Given the description of an element on the screen output the (x, y) to click on. 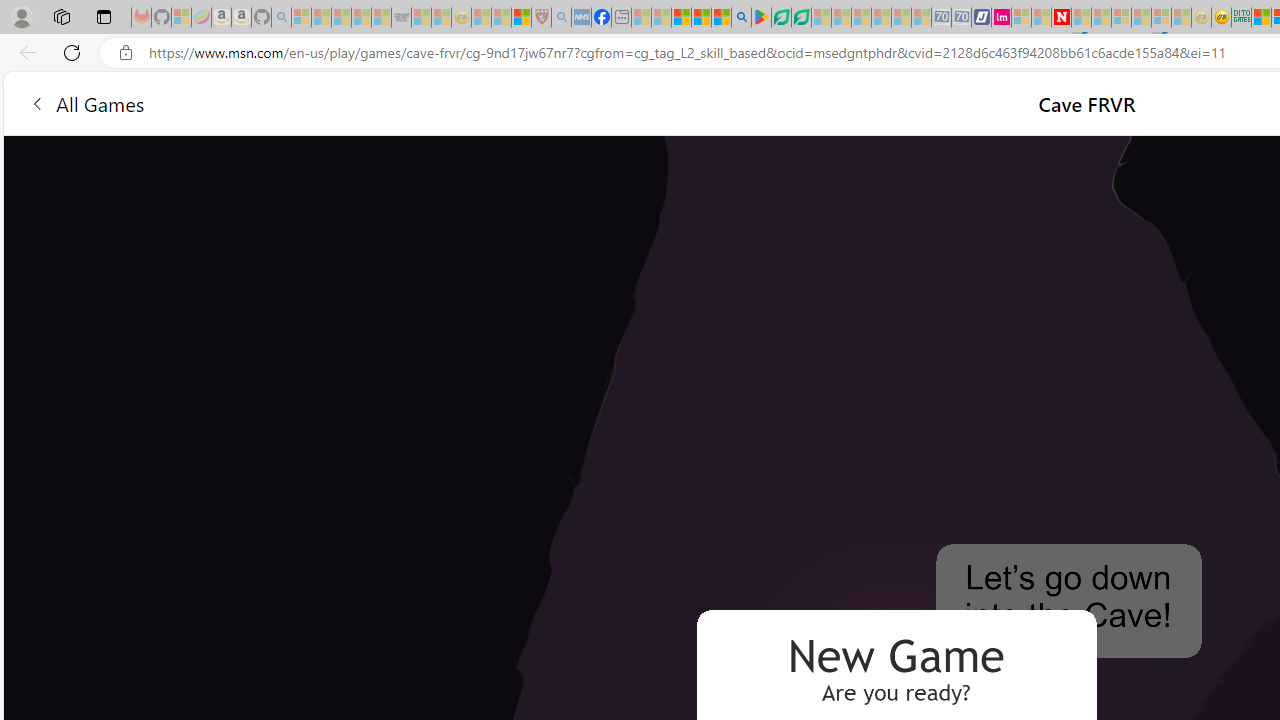
All Games (86, 102)
Microsoft Start - Sleeping (1040, 17)
Terms of Use Agreement (781, 17)
Combat Siege (400, 17)
Trusted Community Engagement and Contributions | Guidelines (1080, 17)
New tab - Sleeping (621, 17)
Recipes - MSN - Sleeping (481, 17)
Cheap Hotels - Save70.com - Sleeping (961, 17)
google - Search (741, 17)
